Given the description of an element on the screen output the (x, y) to click on. 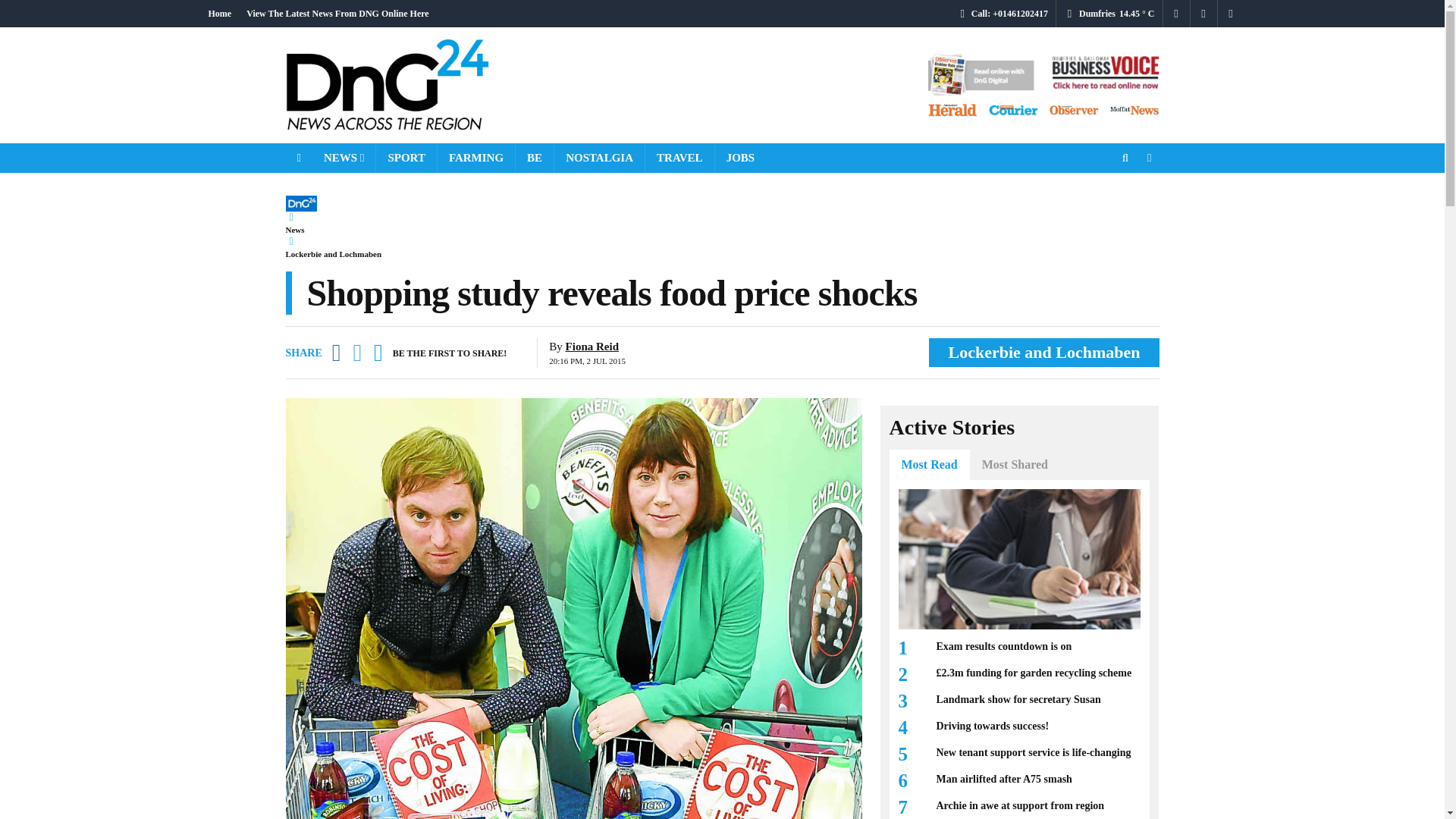
Fiona Reid (592, 346)
News (294, 228)
Fiona Reid (592, 346)
Lockerbie and Lochmaben (333, 253)
SPORT (405, 157)
TRAVEL (679, 157)
JOBS (740, 157)
BE (534, 157)
NEWS (344, 157)
FARMING (476, 157)
Lockerbie and Lochmaben (1043, 352)
NOSTALGIA (599, 157)
View The Latest News From DNG Online Here (337, 13)
Home (219, 13)
